Given the description of an element on the screen output the (x, y) to click on. 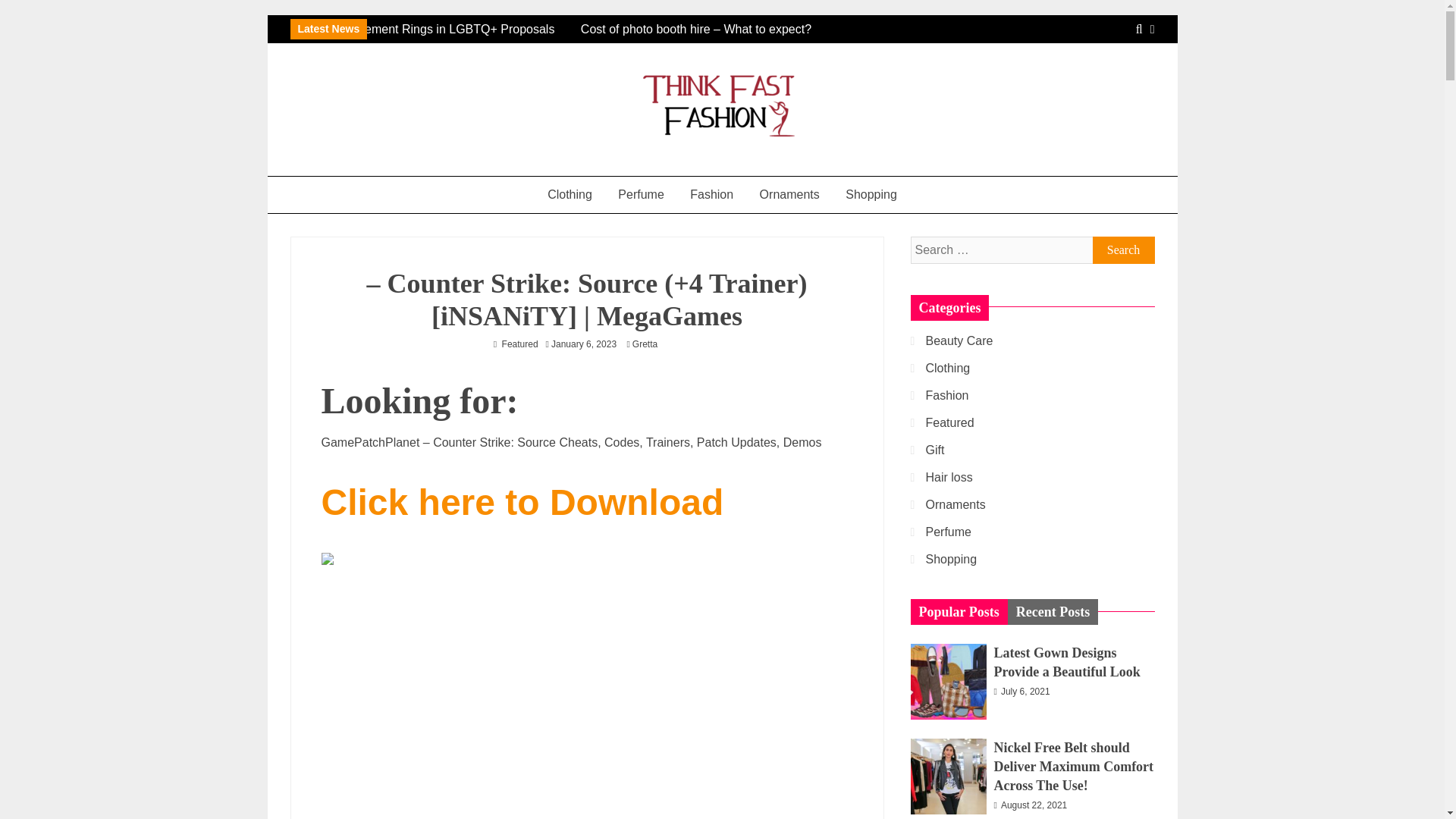
Shopping (871, 194)
Perfume (641, 194)
January 6, 2023 (583, 344)
Fashion (711, 194)
Featured (520, 344)
Think Fast Fashion (402, 169)
Search (1123, 249)
Clothing (569, 194)
Gretta (648, 344)
